Given the description of an element on the screen output the (x, y) to click on. 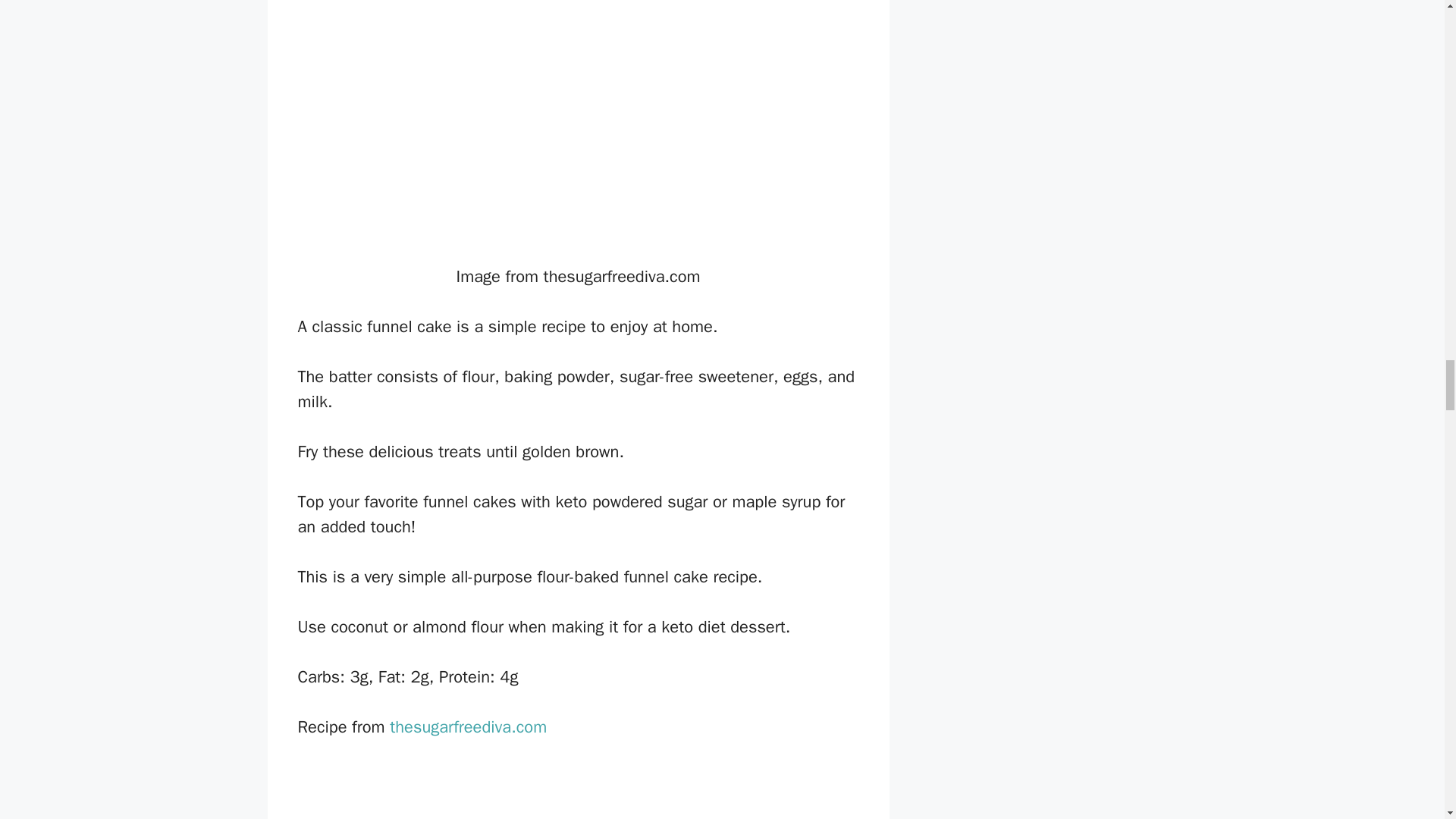
thesugarfreediva.com (468, 726)
